Given the description of an element on the screen output the (x, y) to click on. 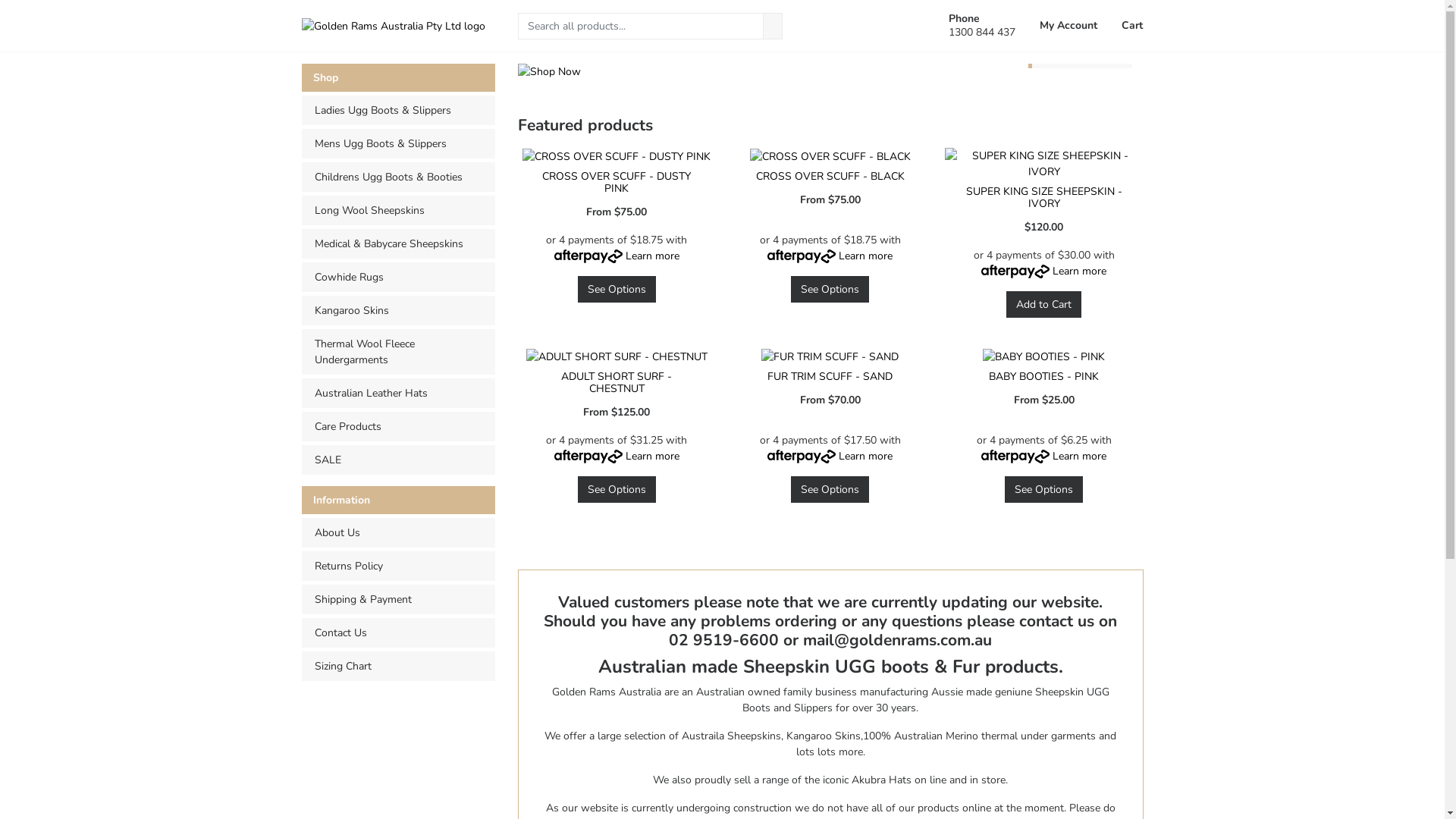
Learn more Element type: text (865, 255)
FUR TRIM SCUFF - SAND Element type: text (829, 376)
Ladies Ugg Boots & Slippers Element type: text (397, 110)
Cowhide Rugs Element type: text (397, 277)
About Us Element type: text (397, 532)
BABY BOOTIES - PINK Element type: text (1043, 376)
See Options Element type: text (616, 489)
Contact Us Element type: text (397, 632)
Long Wool Sheepskins Element type: text (397, 210)
Add to Cart Element type: text (1043, 304)
Medical & Babycare Sheepskins Element type: text (397, 243)
See Options Element type: text (829, 289)
Returns Policy Element type: text (397, 566)
Kangaroo Skins Element type: text (397, 310)
Mens Ugg Boots & Slippers Element type: text (397, 143)
SUPER KING SIZE SHEEPSKIN - IVORY Element type: text (1044, 197)
Shipping & Payment Element type: text (397, 599)
Sizing Chart Element type: text (397, 666)
Golden Rams Australia Pty Ltd Element type: hover (393, 25)
Cart Element type: text (1128, 25)
Care Products Element type: text (397, 426)
Phone
1300 844 437 Element type: text (978, 25)
Childrens Ugg Boots & Booties Element type: text (397, 177)
Skip to main content Element type: text (0, 0)
Thermal Wool Fleece Undergarments Element type: text (397, 351)
Learn more Element type: text (865, 455)
Learn more Element type: text (652, 255)
See Options Element type: text (1043, 489)
CROSS OVER SCUFF - DUSTY PINK Element type: text (616, 182)
SALE Element type: text (397, 459)
CROSS OVER SCUFF - BLACK Element type: text (830, 176)
Learn more Element type: text (1079, 270)
Australian Leather Hats Element type: text (397, 393)
Search Element type: text (772, 25)
See Options Element type: text (829, 489)
My Account Element type: text (1065, 25)
ADULT SHORT SURF - CHESTNUT Element type: text (616, 382)
See Options Element type: text (616, 289)
Learn more Element type: text (652, 455)
Learn more Element type: text (1079, 455)
